Given the description of an element on the screen output the (x, y) to click on. 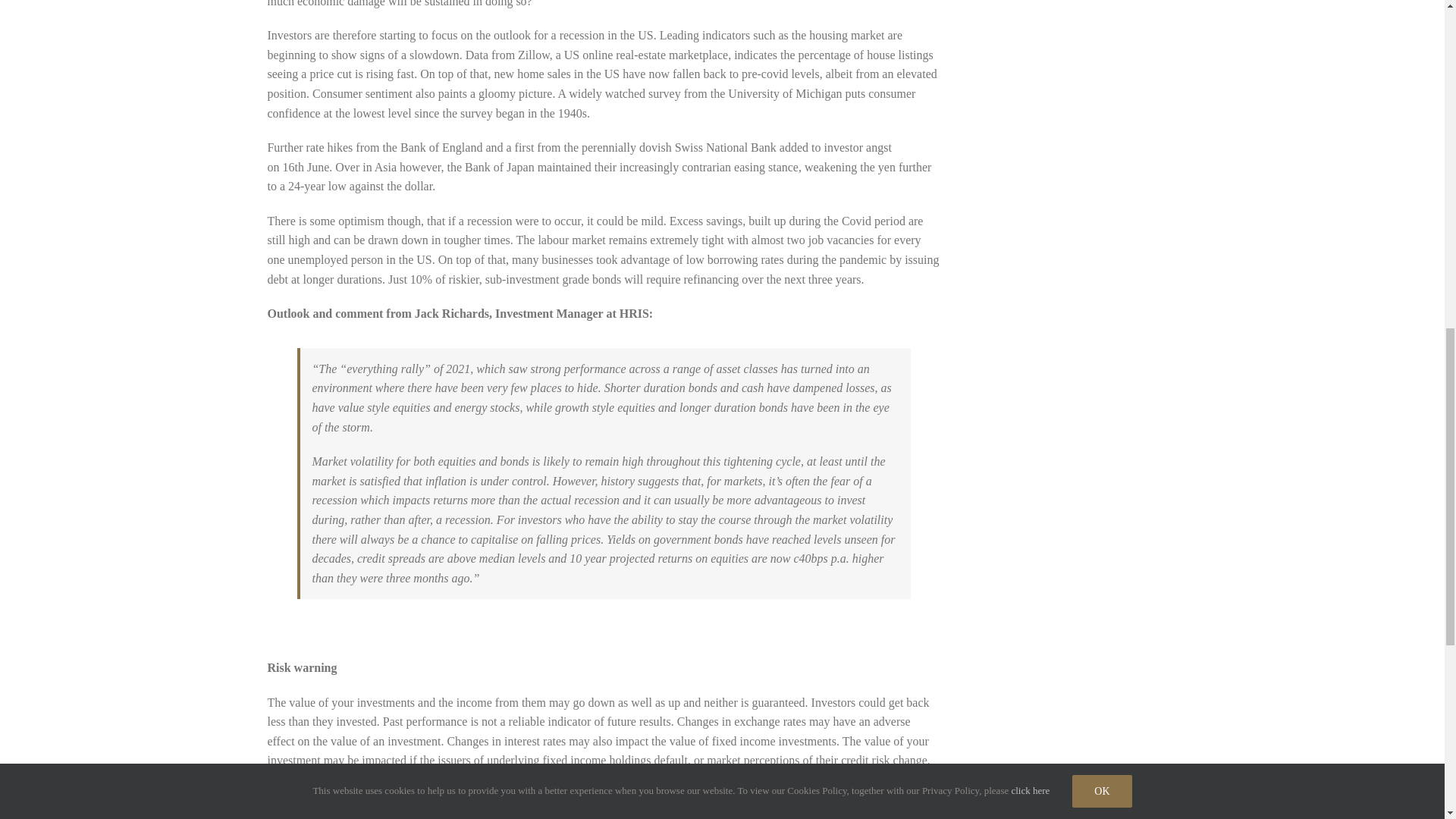
Page 1 (603, 98)
